Given the description of an element on the screen output the (x, y) to click on. 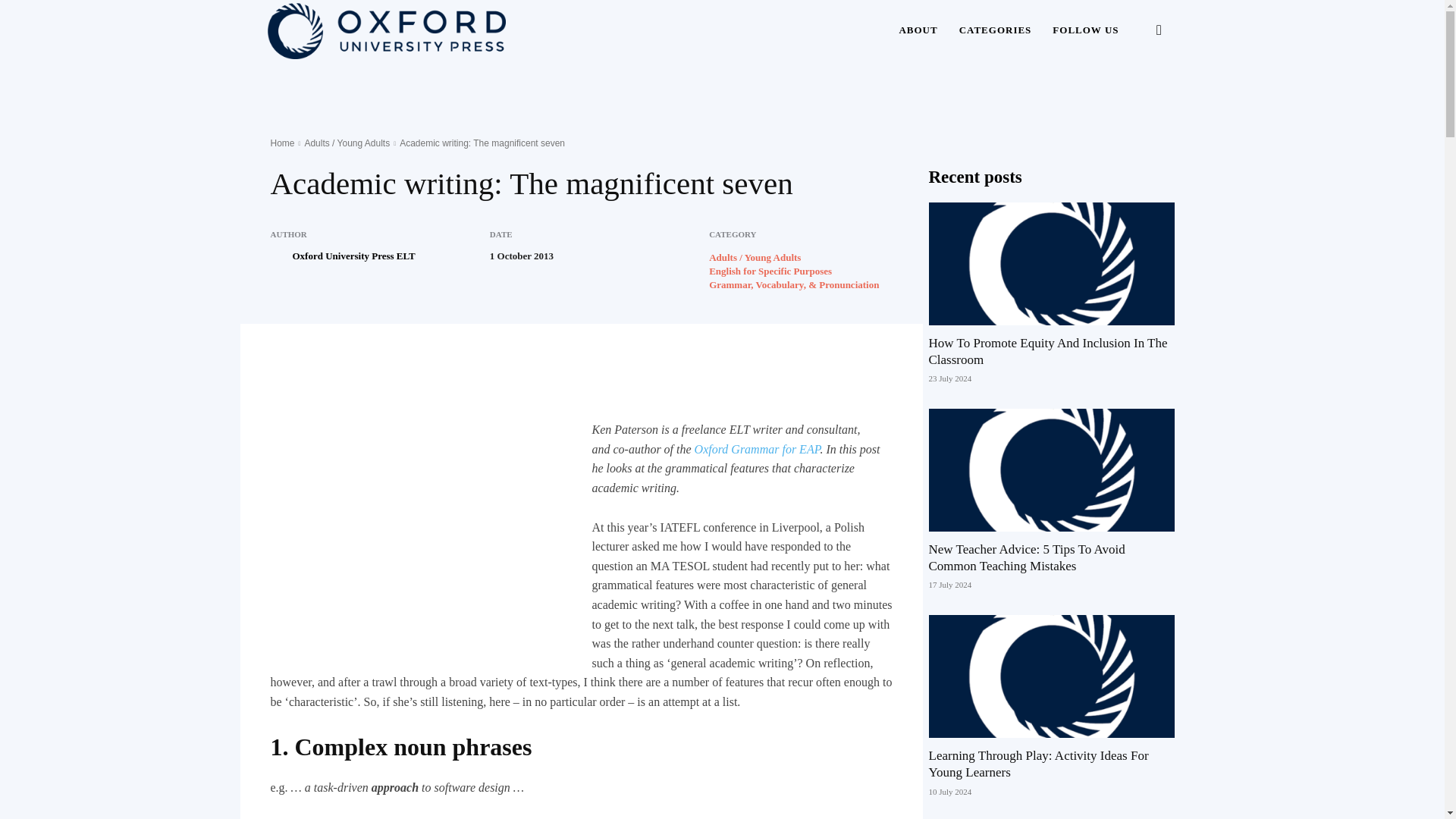
Oxford University Press ELT (353, 255)
CATEGORIES (995, 30)
Oxford University Press ELT (279, 255)
Home (281, 143)
English for Specific Purposes (770, 271)
FOLLOW US (1085, 30)
ABOUT (917, 30)
Oxford Grammar for EAP (757, 449)
Search (1134, 102)
Teaching English with Oxford (385, 30)
